Given the description of an element on the screen output the (x, y) to click on. 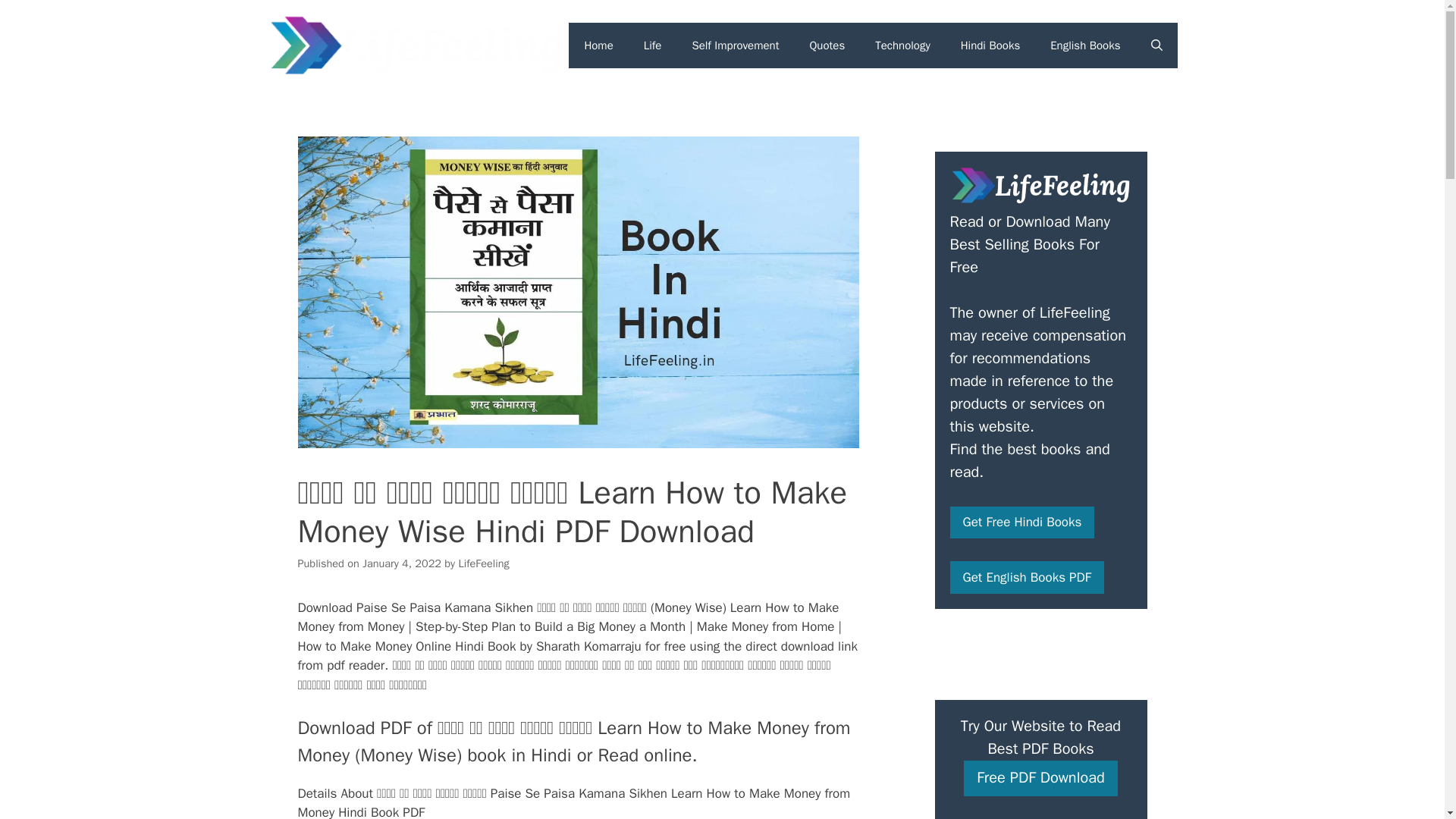
Quotes (826, 44)
Home (598, 44)
English Books PDF (1026, 577)
Get Hindi Books PDF (1021, 522)
View all posts by LifeFeeling (483, 563)
Life (652, 44)
Hindi Books (989, 44)
LifeFeeling (483, 563)
Get Free Hindi Books (1021, 522)
Get English Books PDF (1026, 577)
Technology (902, 44)
Free PDF Download (1040, 778)
Self Improvement (735, 44)
English Books (1085, 44)
